Given the description of an element on the screen output the (x, y) to click on. 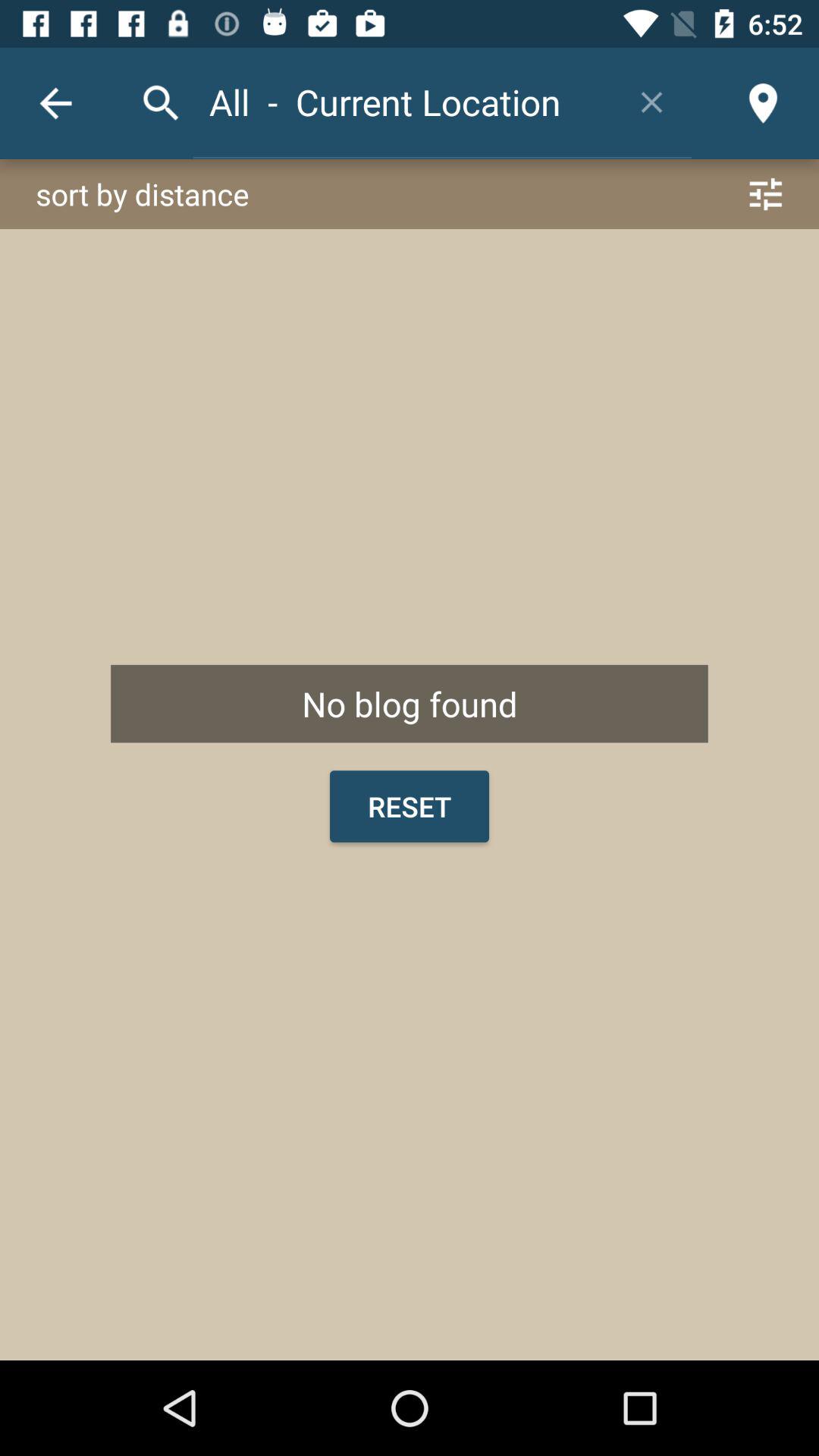
scroll to reset (409, 806)
